Given the description of an element on the screen output the (x, y) to click on. 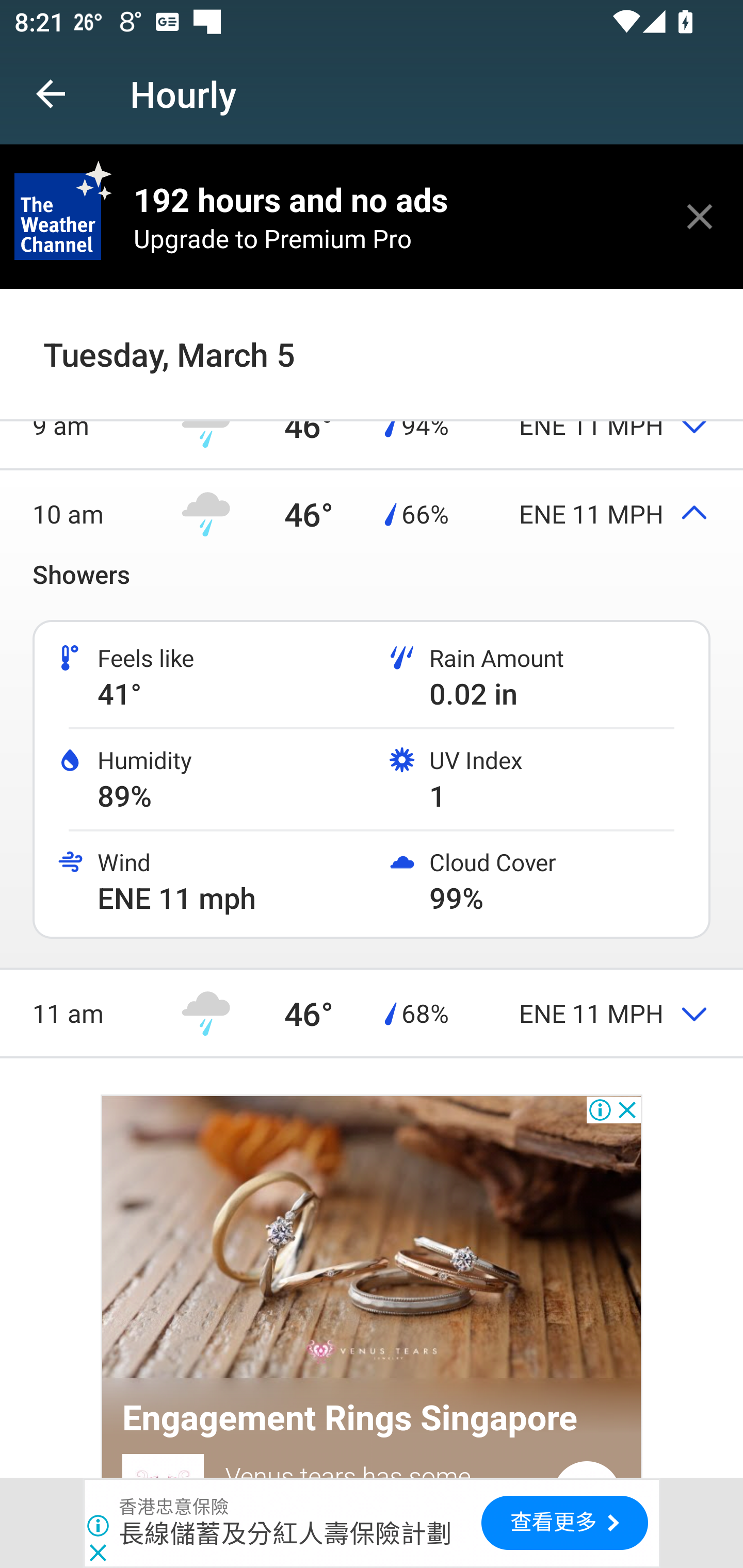
Navigate up (50, 93)
close this (699, 216)
8 am 46° 100% ENE 10 MPH (371, 336)
9 am 46° 94% ENE 11 MPH (371, 424)
10 am 46° 66% ENE 11 MPH (371, 513)
11 am 46° 68% ENE 11 MPH (371, 1012)
venus-tears (371, 1239)
Engagement Rings Singapore (349, 1418)
香港忠意保險 (174, 1507)
查看更多 (564, 1522)
長線儲蓄及分紅人壽保險計劃 (285, 1533)
